Given the description of an element on the screen output the (x, y) to click on. 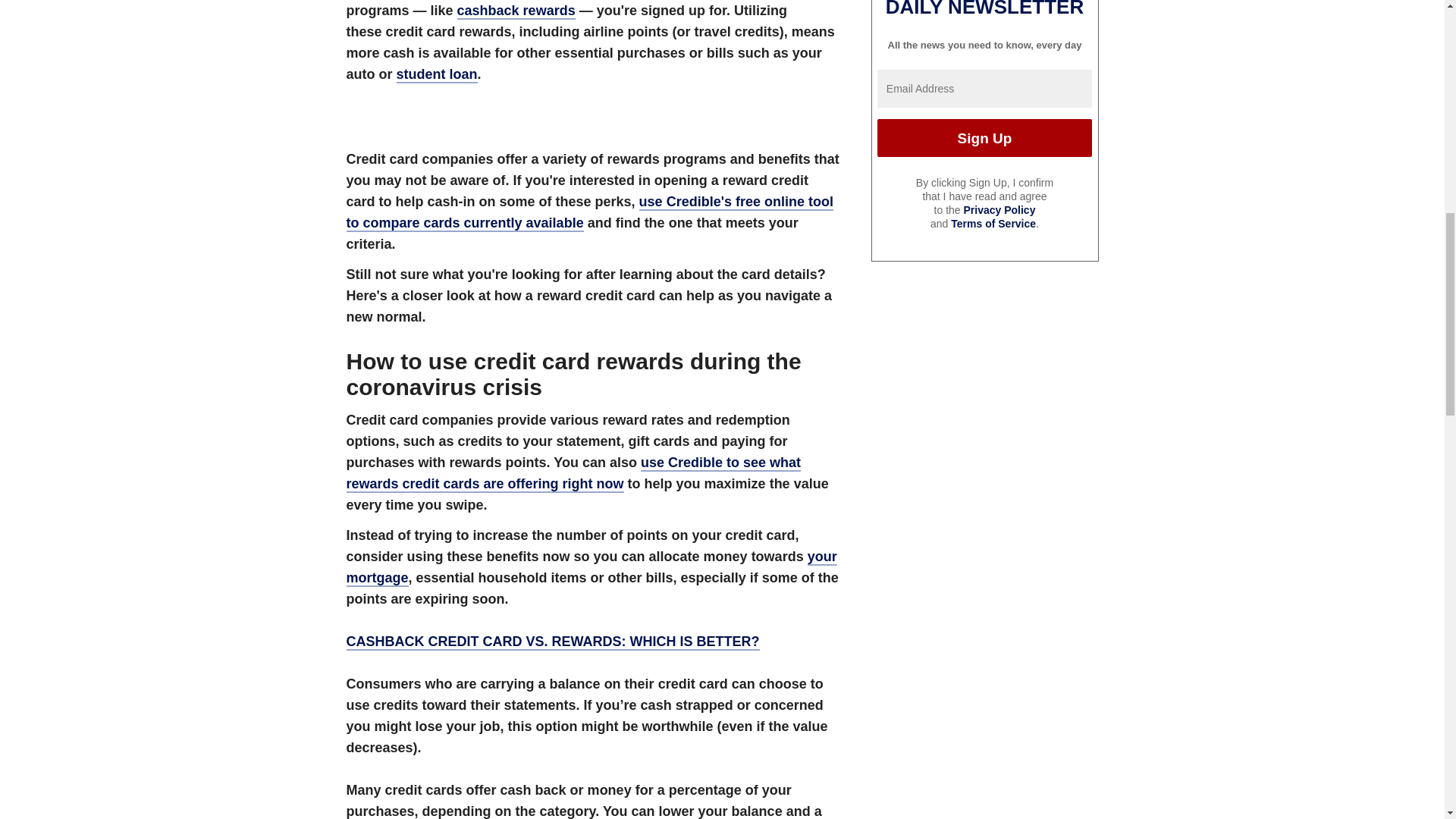
Sign Up (984, 137)
